Given the description of an element on the screen output the (x, y) to click on. 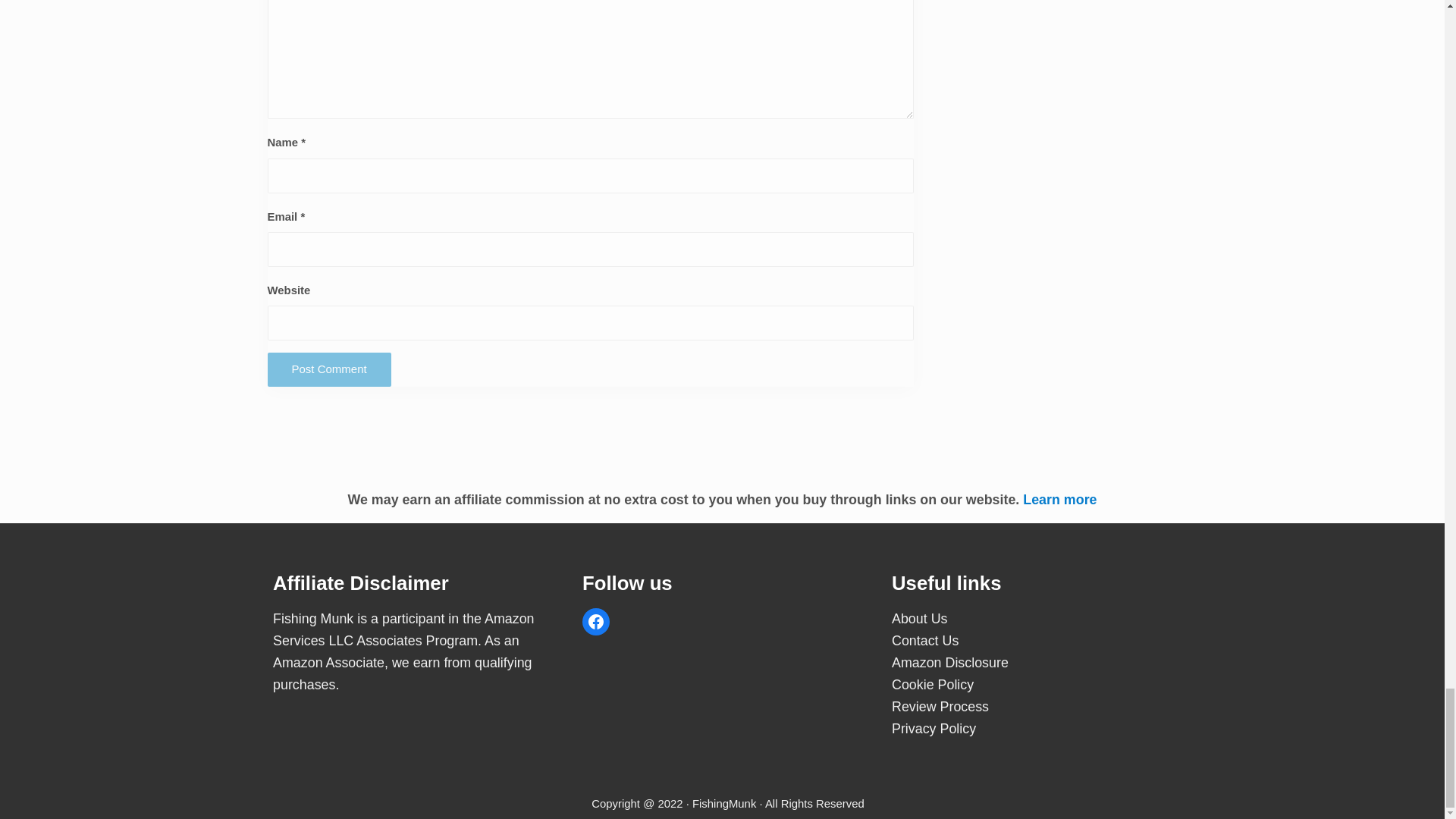
Post Comment (328, 369)
Post Comment (328, 369)
